Given the description of an element on the screen output the (x, y) to click on. 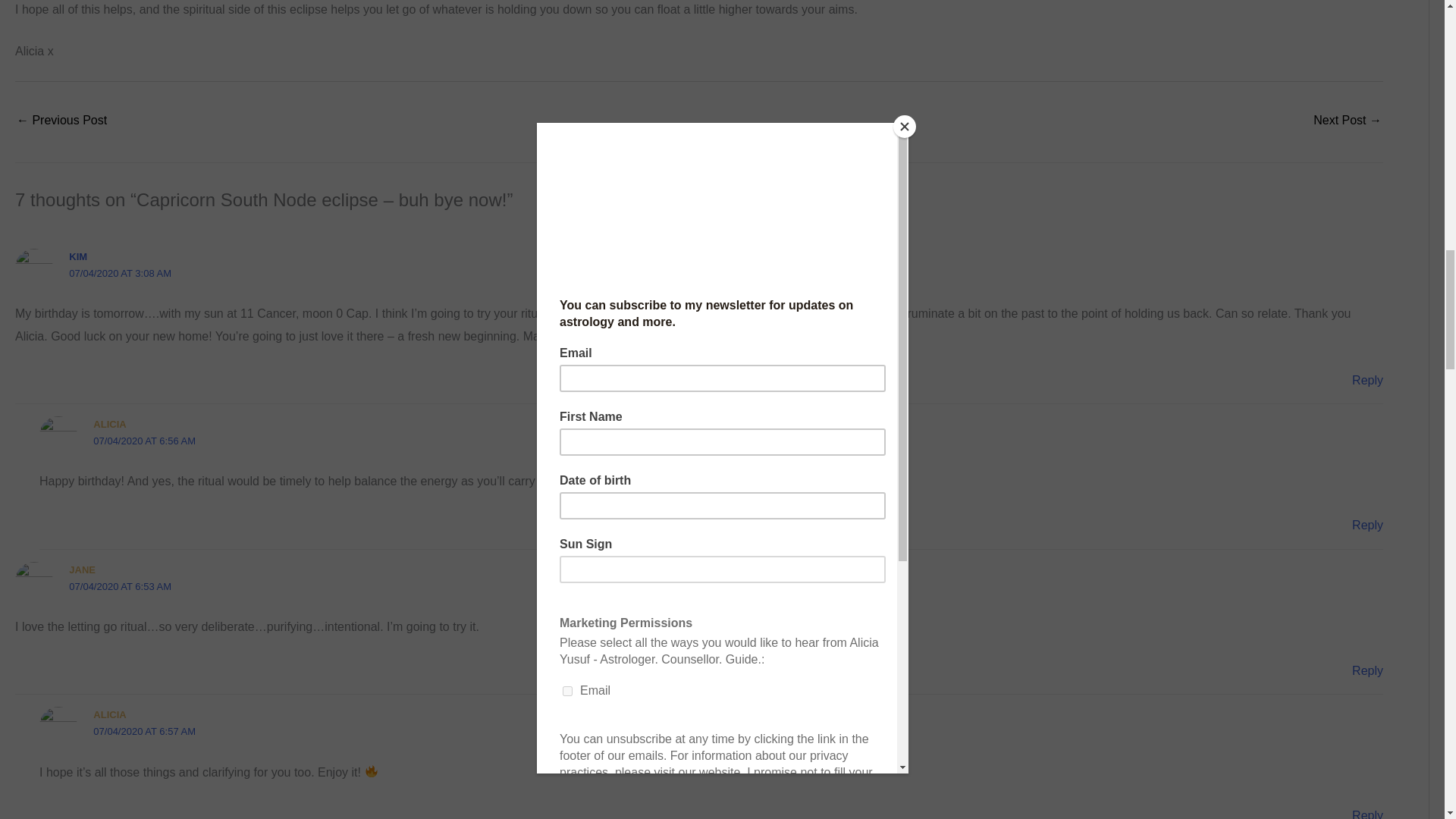
Cancer New Moon - eclipse free! (1347, 121)
Reply (1367, 524)
Reply (1367, 379)
Jupiter-Pluto conjuction June 2020 (61, 121)
KIM (77, 256)
